Given the description of an element on the screen output the (x, y) to click on. 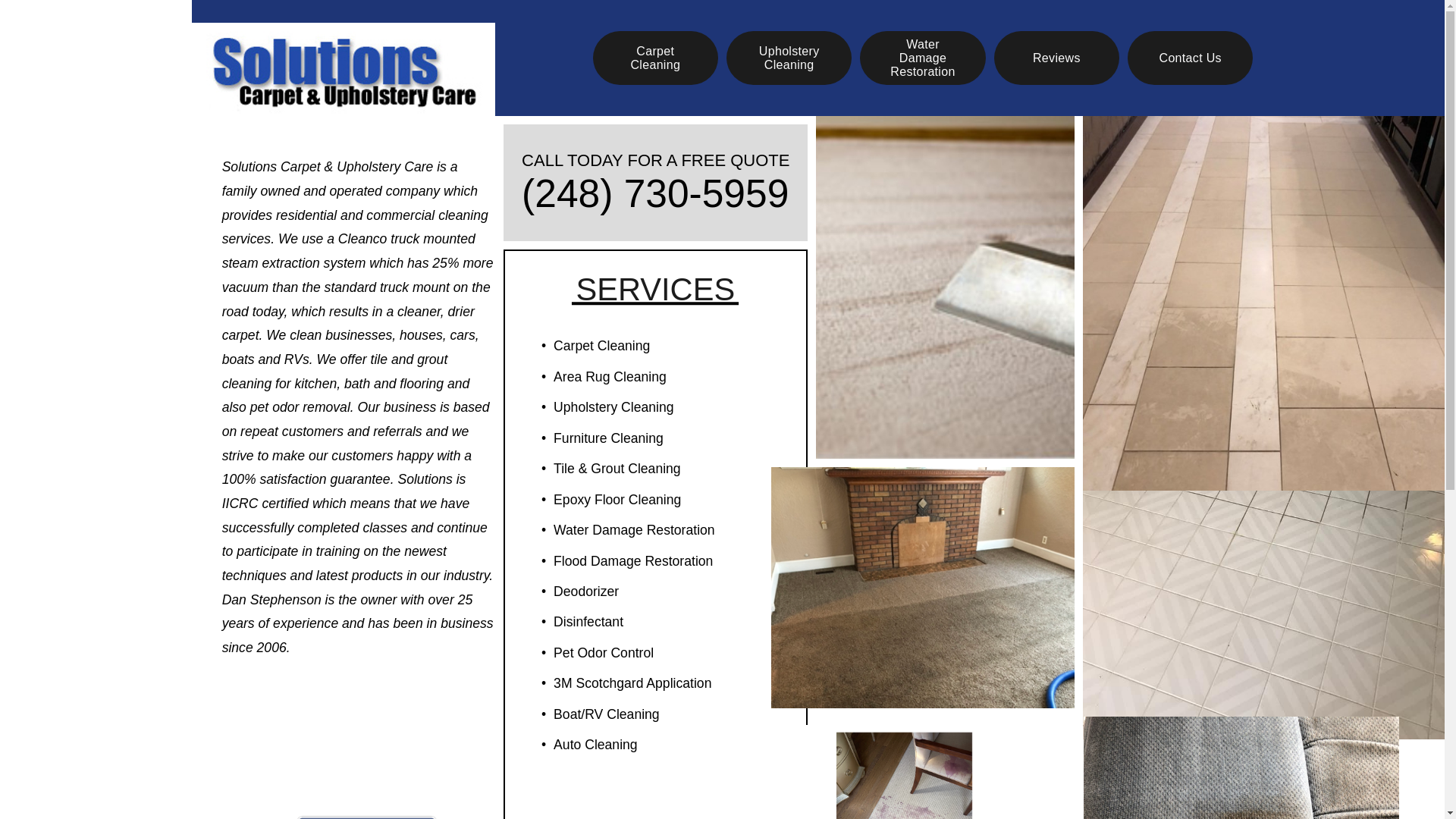
Water Damage Restoration (922, 58)
Contact Us (1189, 58)
Carpet Cleaning (654, 58)
Upholstery Cleaning (788, 58)
Reviews (1056, 58)
